Given the description of an element on the screen output the (x, y) to click on. 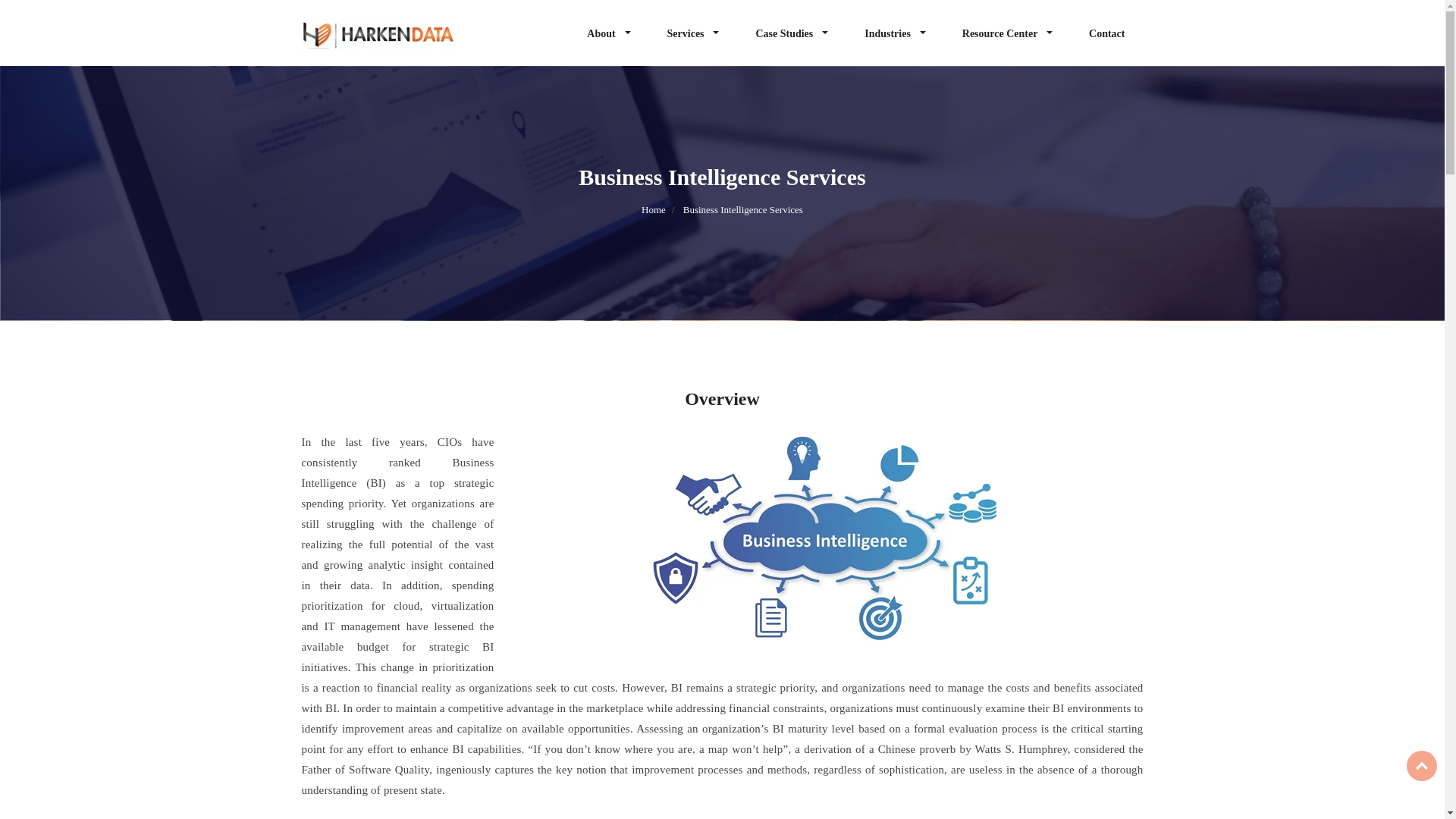
Top (1421, 766)
Services (693, 33)
About (608, 33)
Case Studies (790, 33)
